Given the description of an element on the screen output the (x, y) to click on. 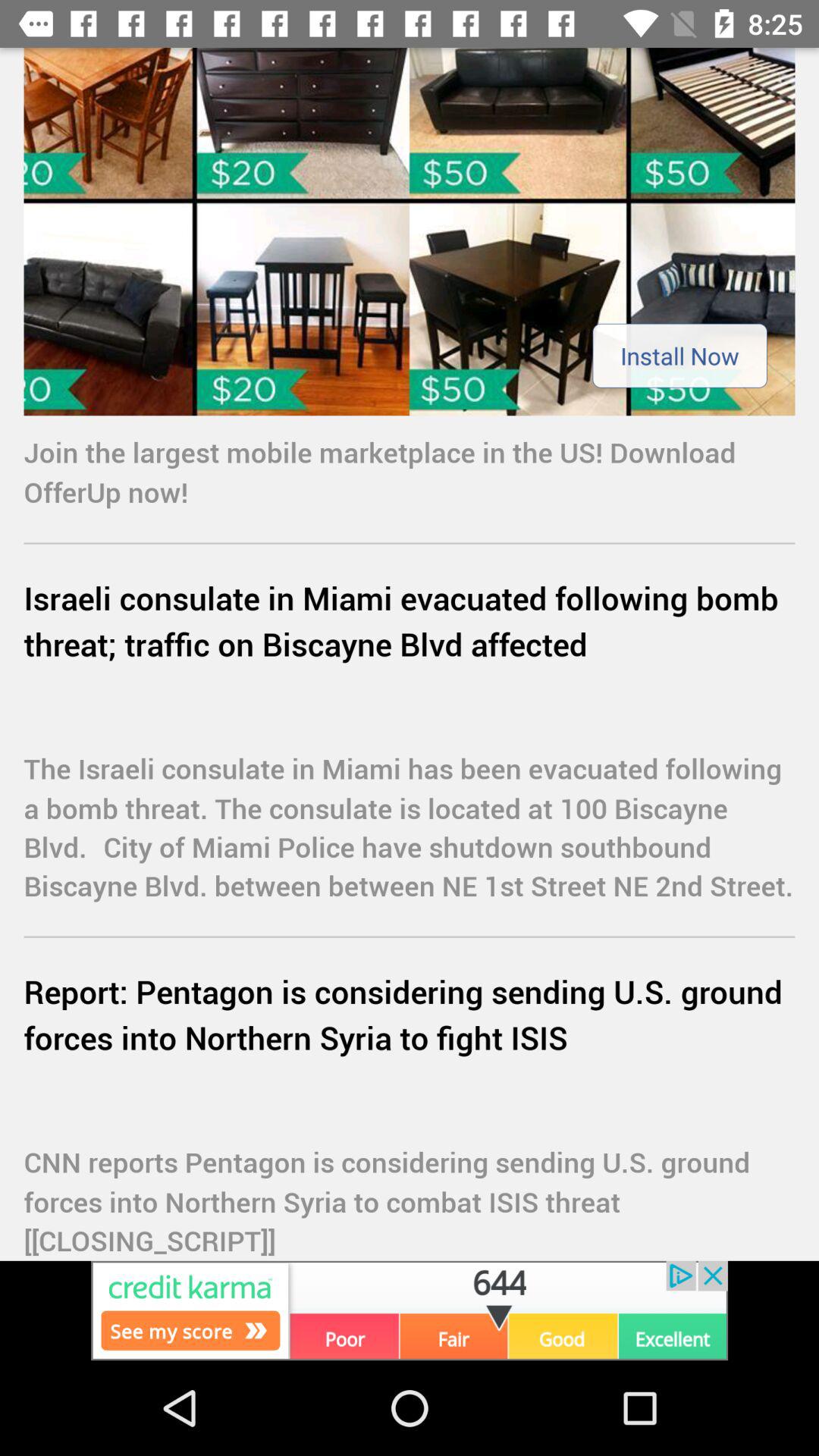
advertisement (409, 1310)
